Given the description of an element on the screen output the (x, y) to click on. 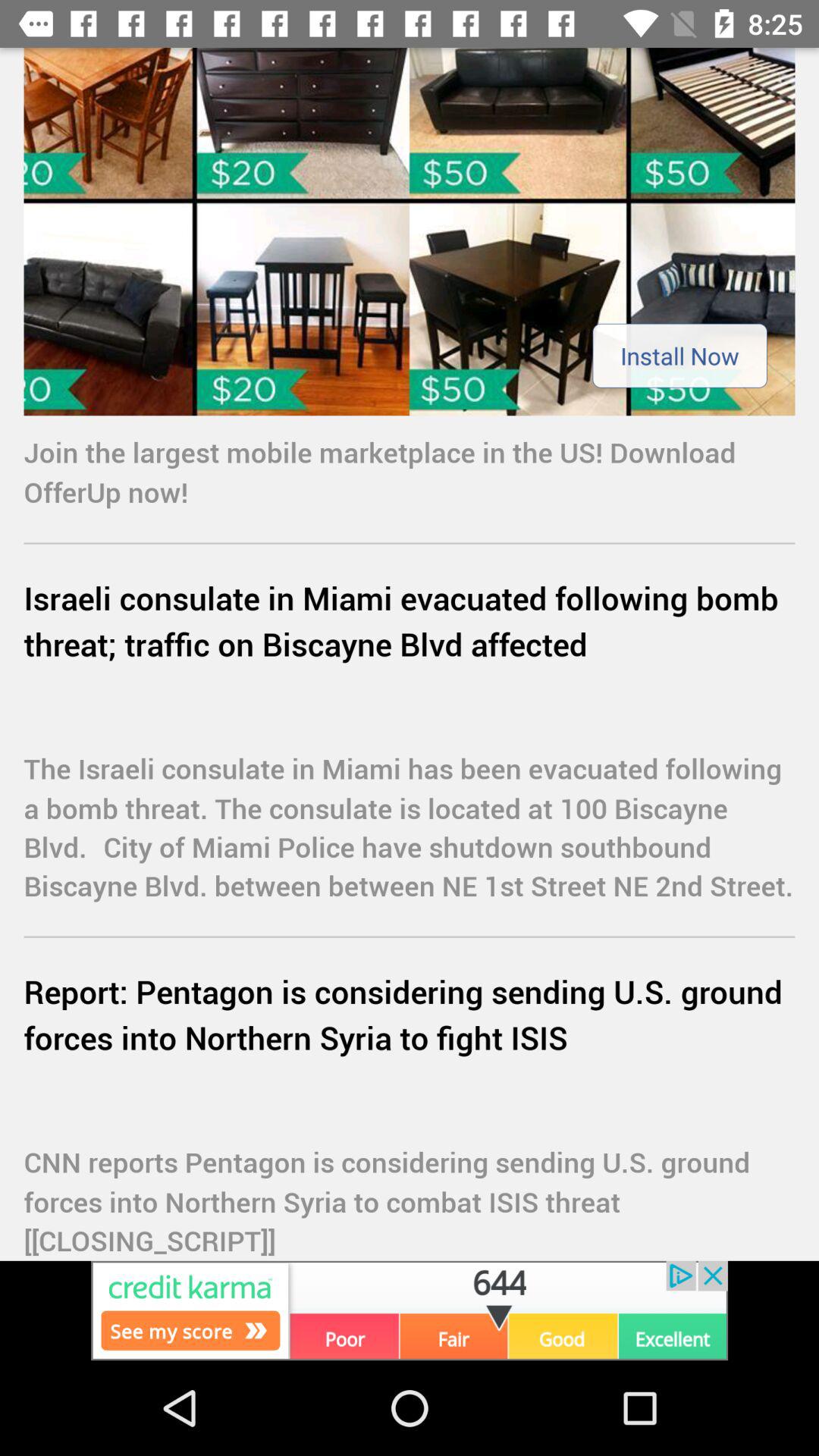
advertisement (409, 1310)
